Given the description of an element on the screen output the (x, y) to click on. 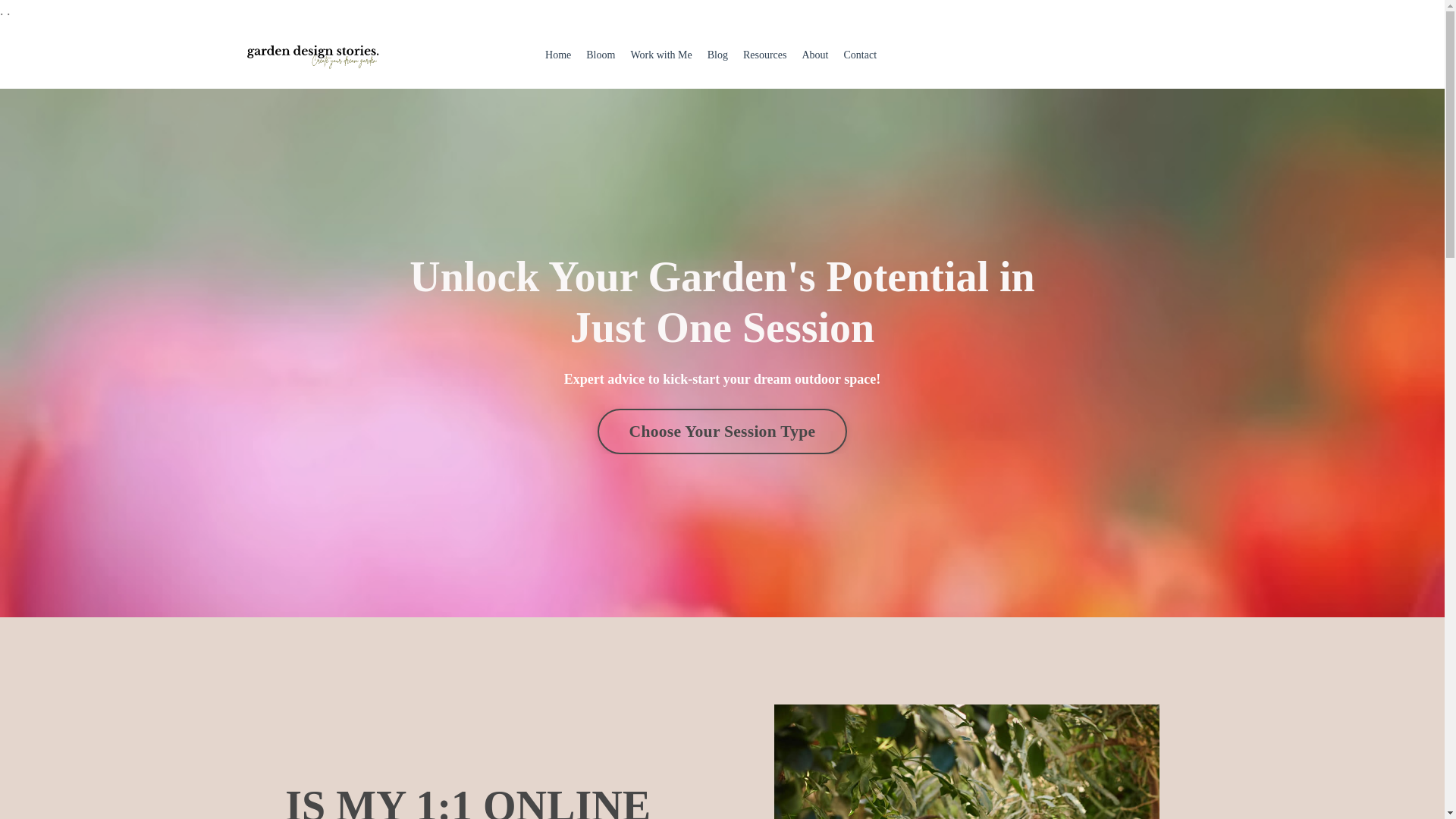
Work with Me (660, 54)
Blog (717, 54)
Resources (764, 54)
Home (557, 54)
Contact (859, 54)
Bloom (600, 54)
Choose Your Session Type (721, 431)
About (815, 54)
